Given the description of an element on the screen output the (x, y) to click on. 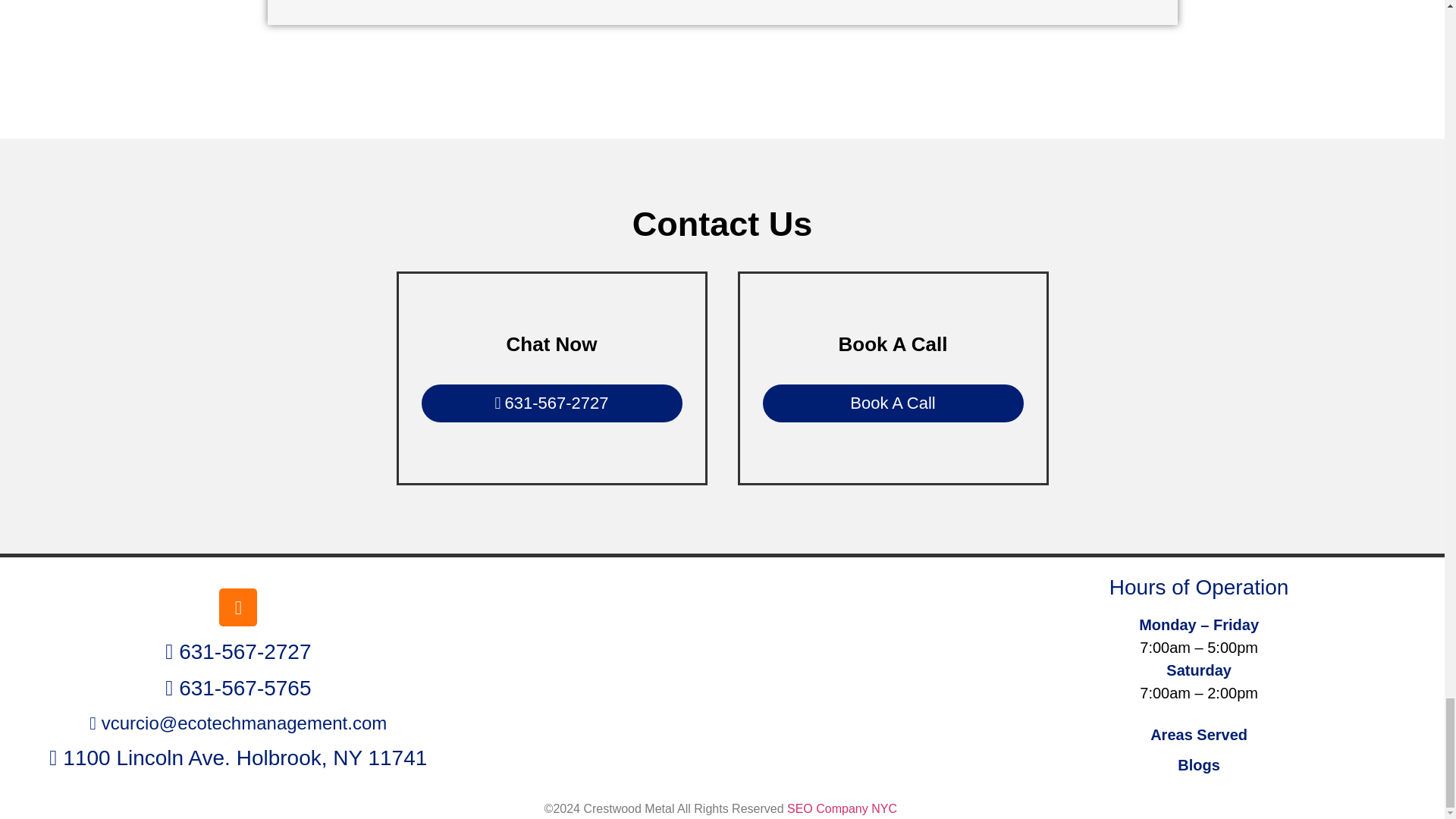
Crestwood Scraps (717, 678)
